Given the description of an element on the screen output the (x, y) to click on. 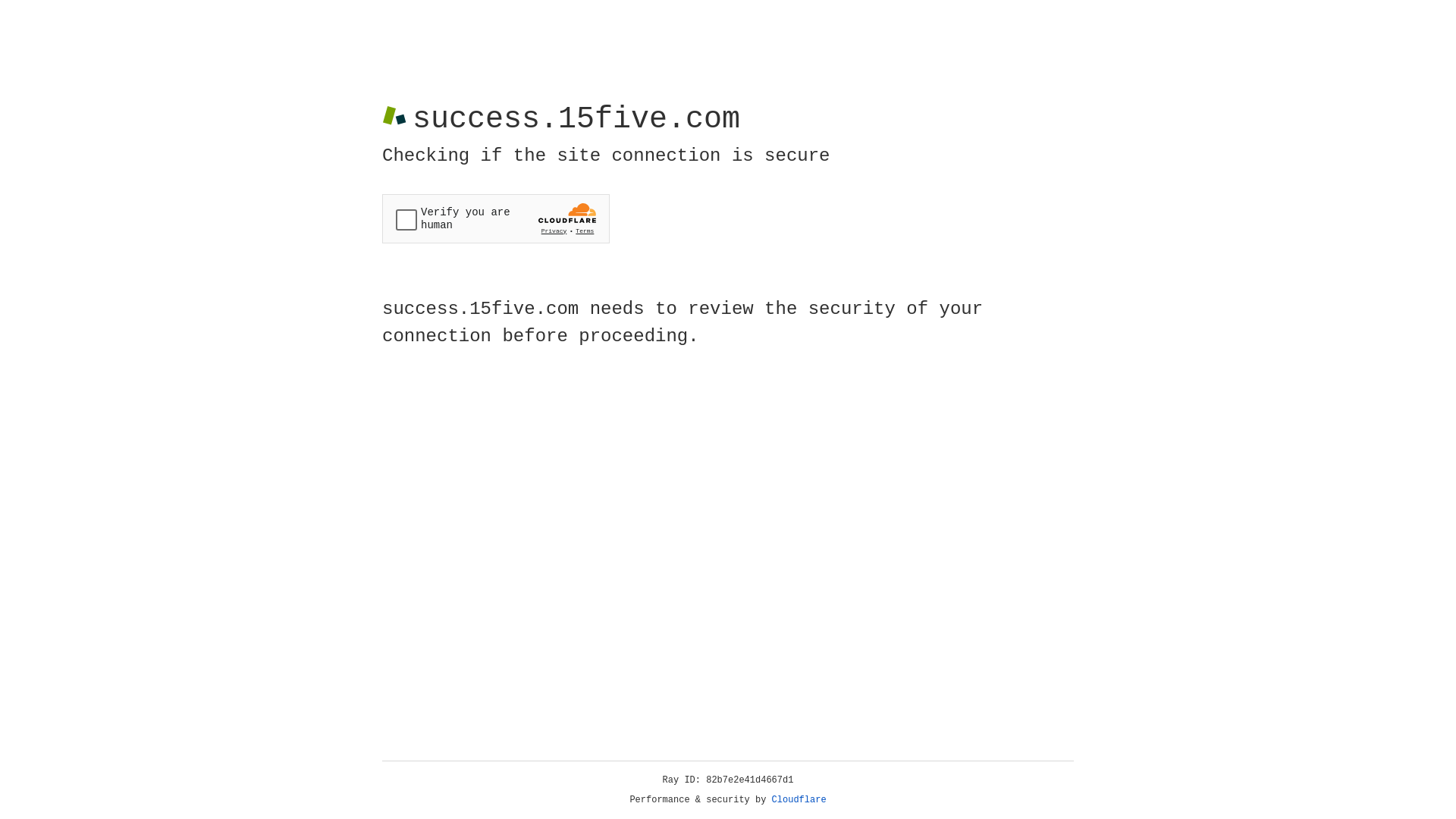
Cloudflare Element type: text (798, 799)
Widget containing a Cloudflare security challenge Element type: hover (495, 218)
